Given the description of an element on the screen output the (x, y) to click on. 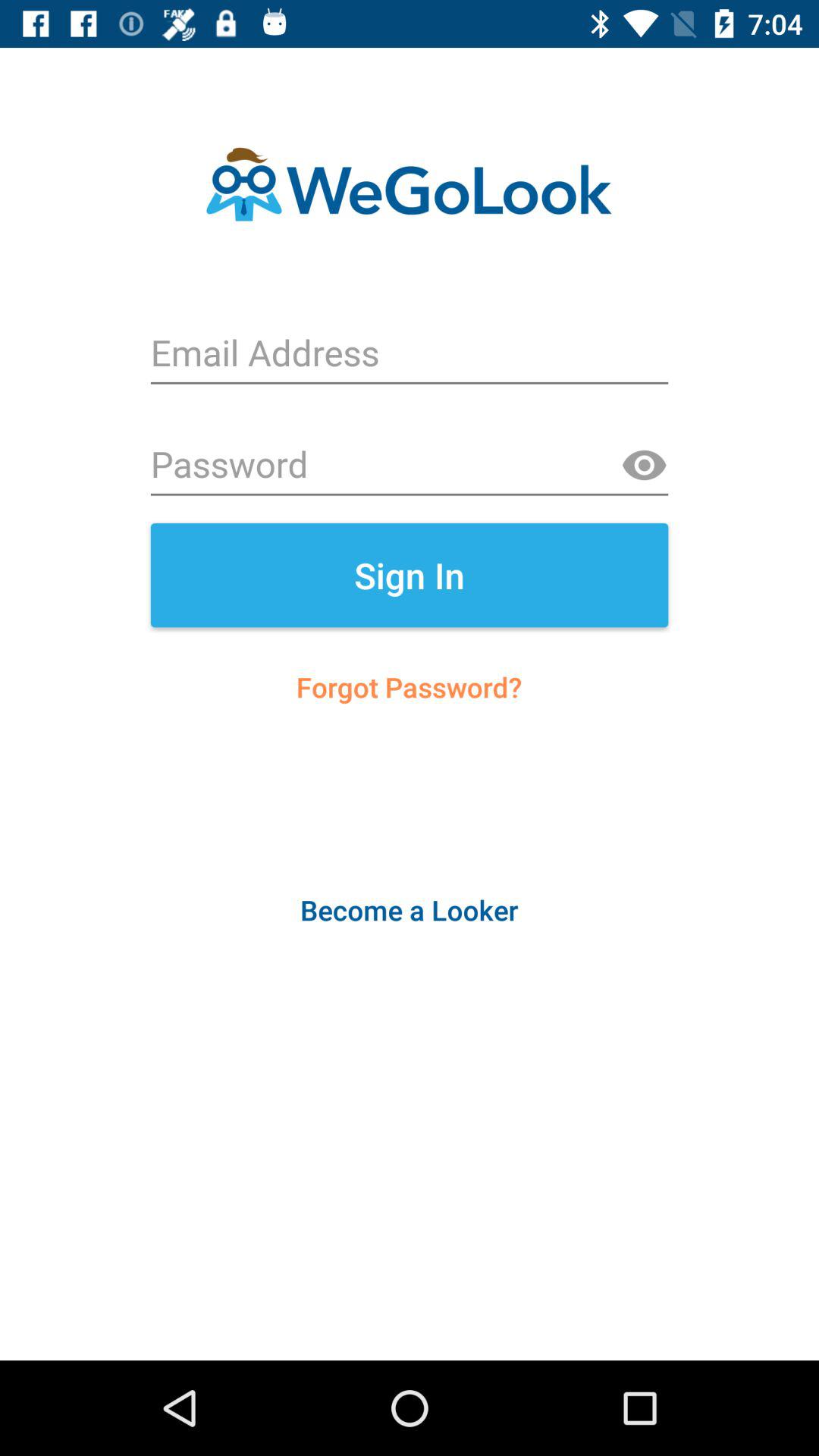
launch sign in (409, 575)
